Given the description of an element on the screen output the (x, y) to click on. 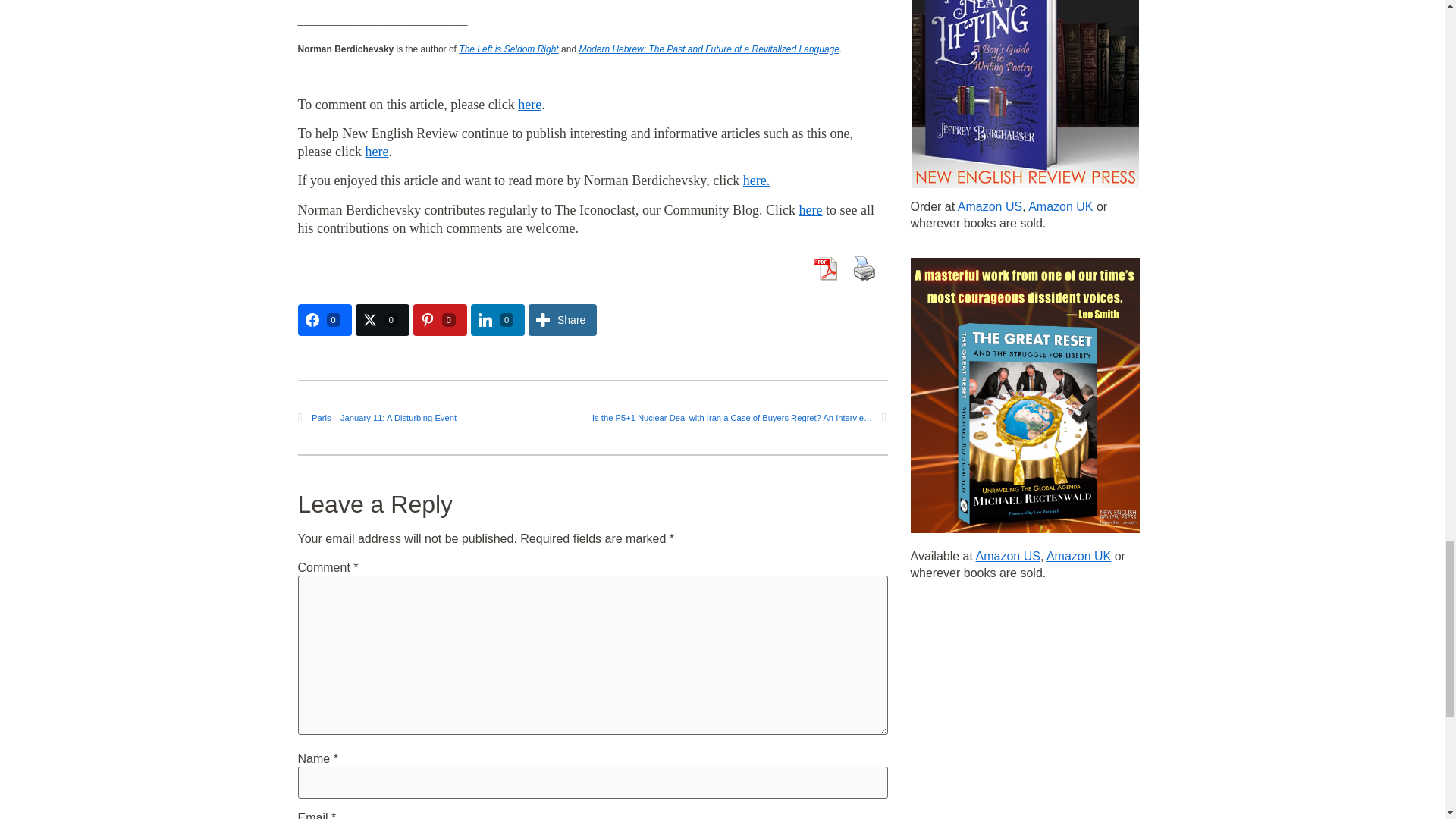
Modern Hebrew: The Past and Future of a Revitalized Language (709, 49)
Share on LinkedIn (497, 319)
View PDF (824, 268)
The Left is Seldom Right (507, 49)
Share on Share (562, 319)
Share on Pinterest (440, 319)
here (529, 104)
Share on Facebook (323, 319)
here (376, 151)
Print Content (863, 268)
Share on Twitter (382, 319)
here. (756, 180)
here (810, 209)
